Given the description of an element on the screen output the (x, y) to click on. 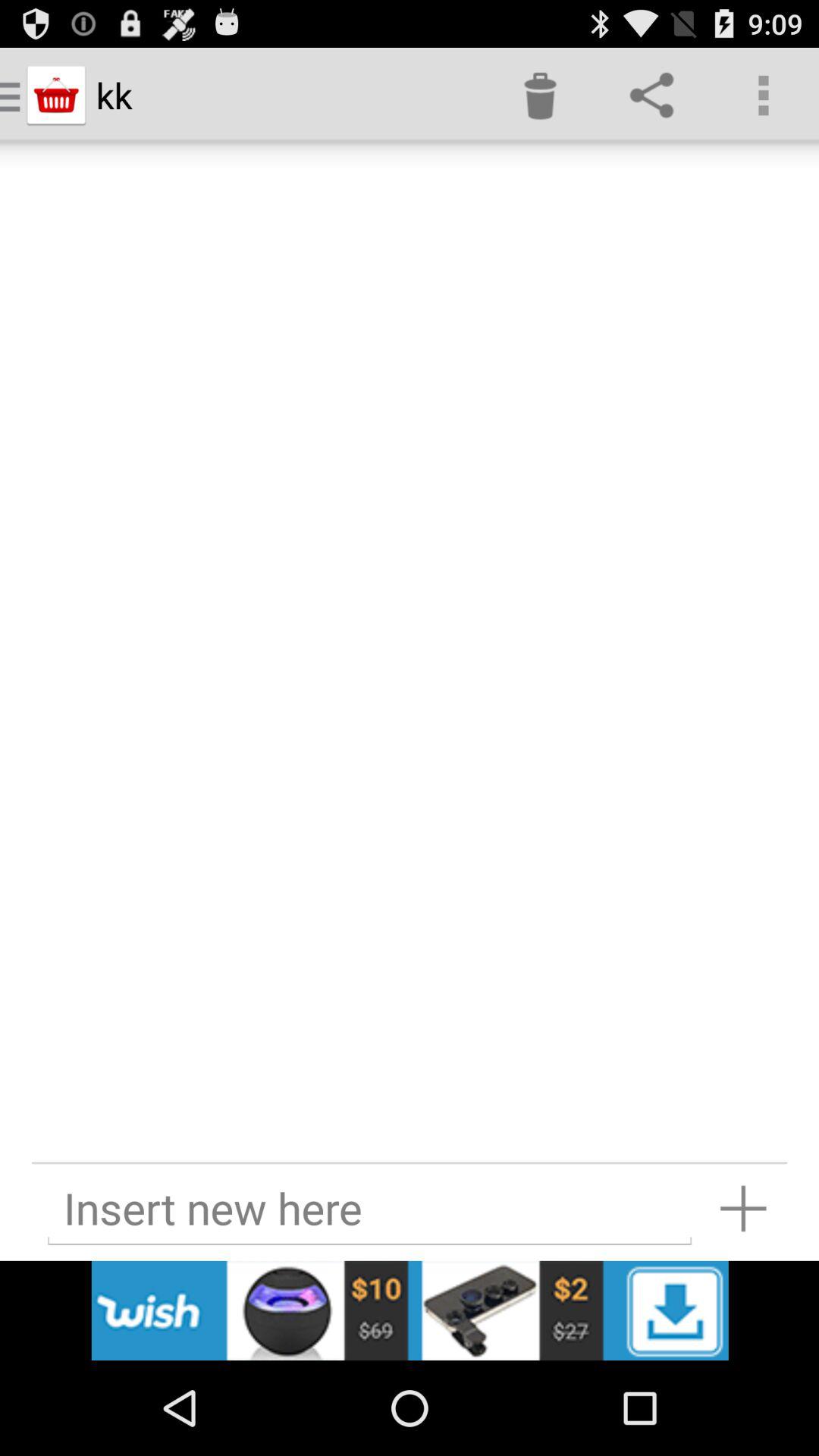
lower advertisement bar (409, 1310)
